Given the description of an element on the screen output the (x, y) to click on. 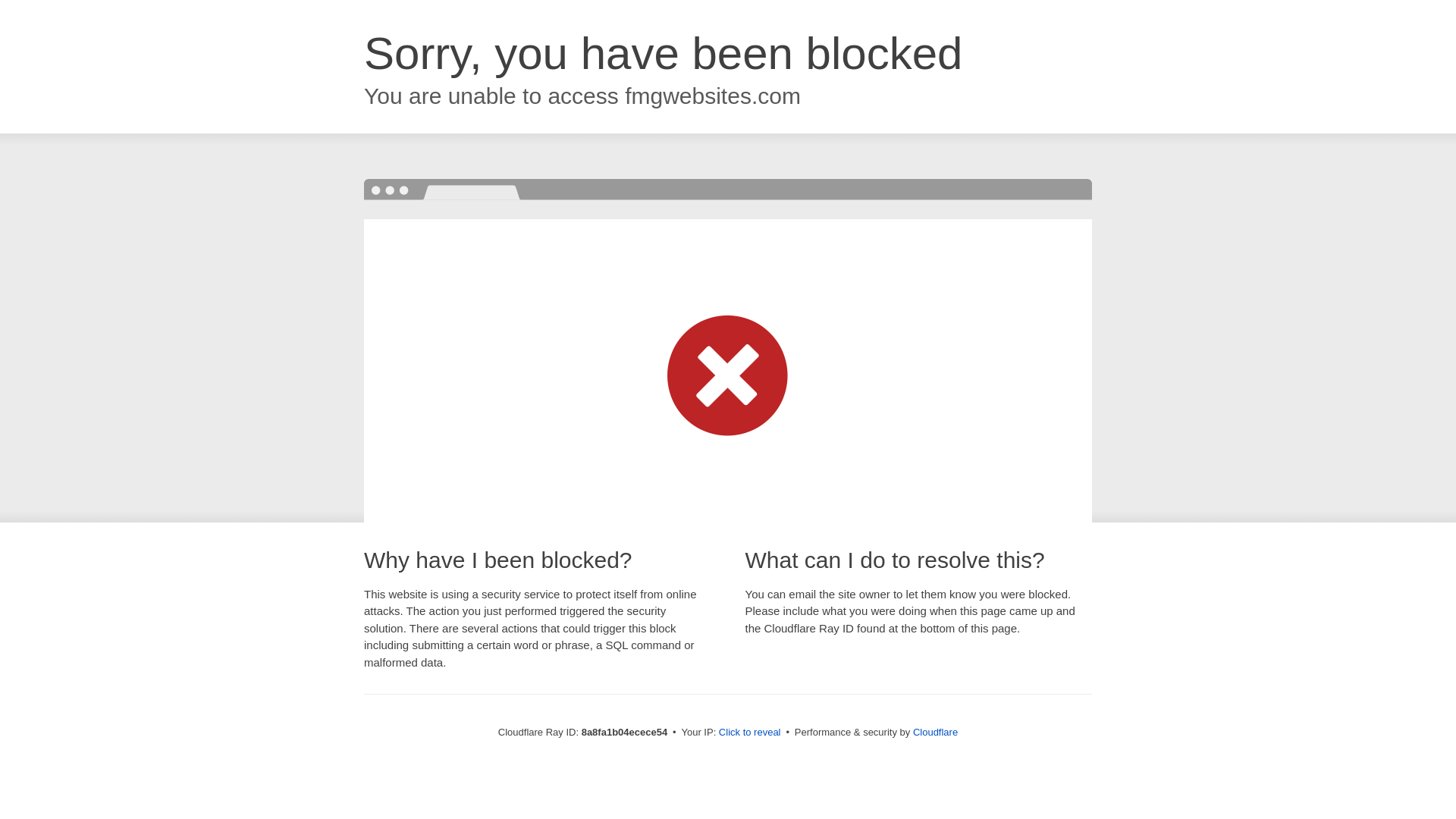
Click to reveal (749, 732)
Cloudflare (935, 731)
